Given the description of an element on the screen output the (x, y) to click on. 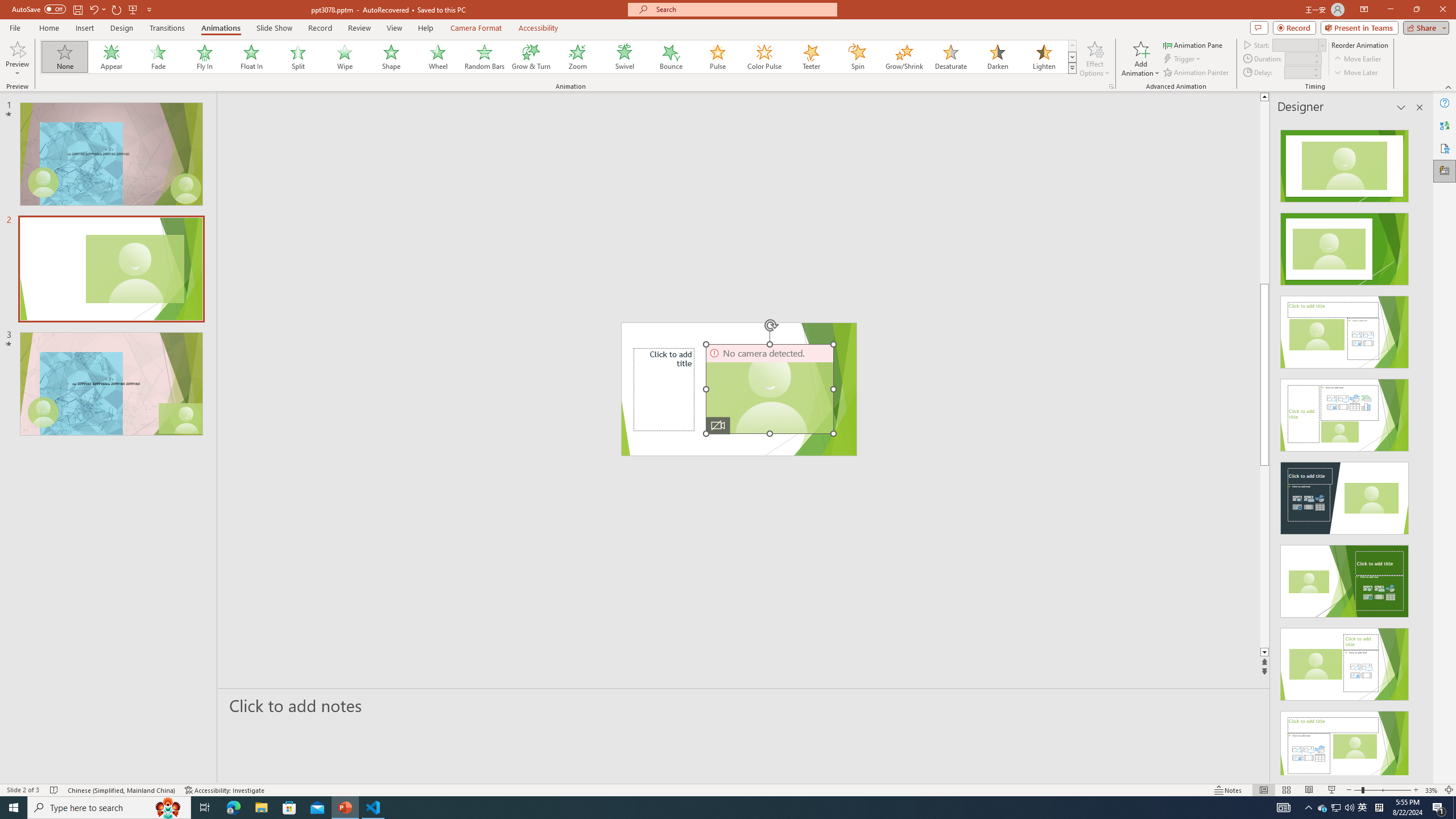
Animation Styles (1071, 67)
